Given the description of an element on the screen output the (x, y) to click on. 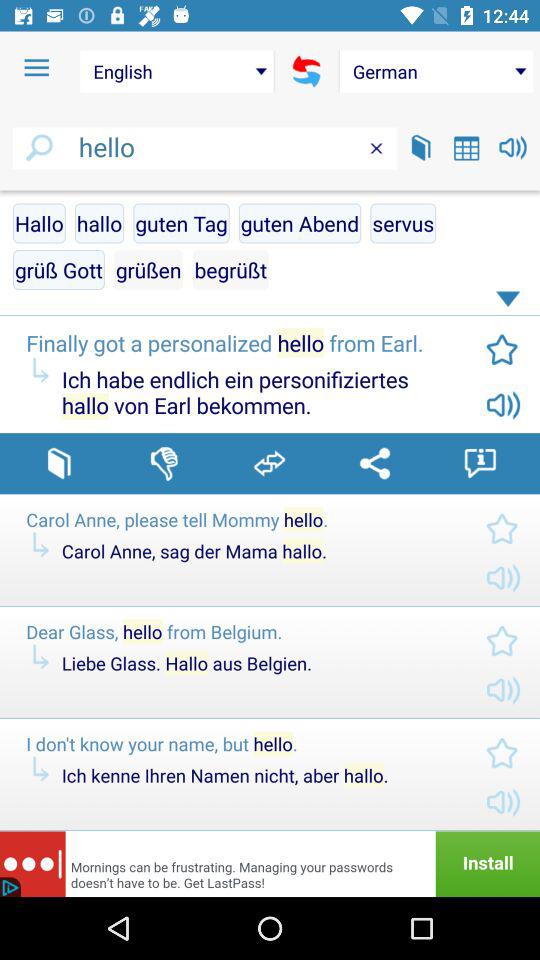
open the item above hello (436, 71)
